Given the description of an element on the screen output the (x, y) to click on. 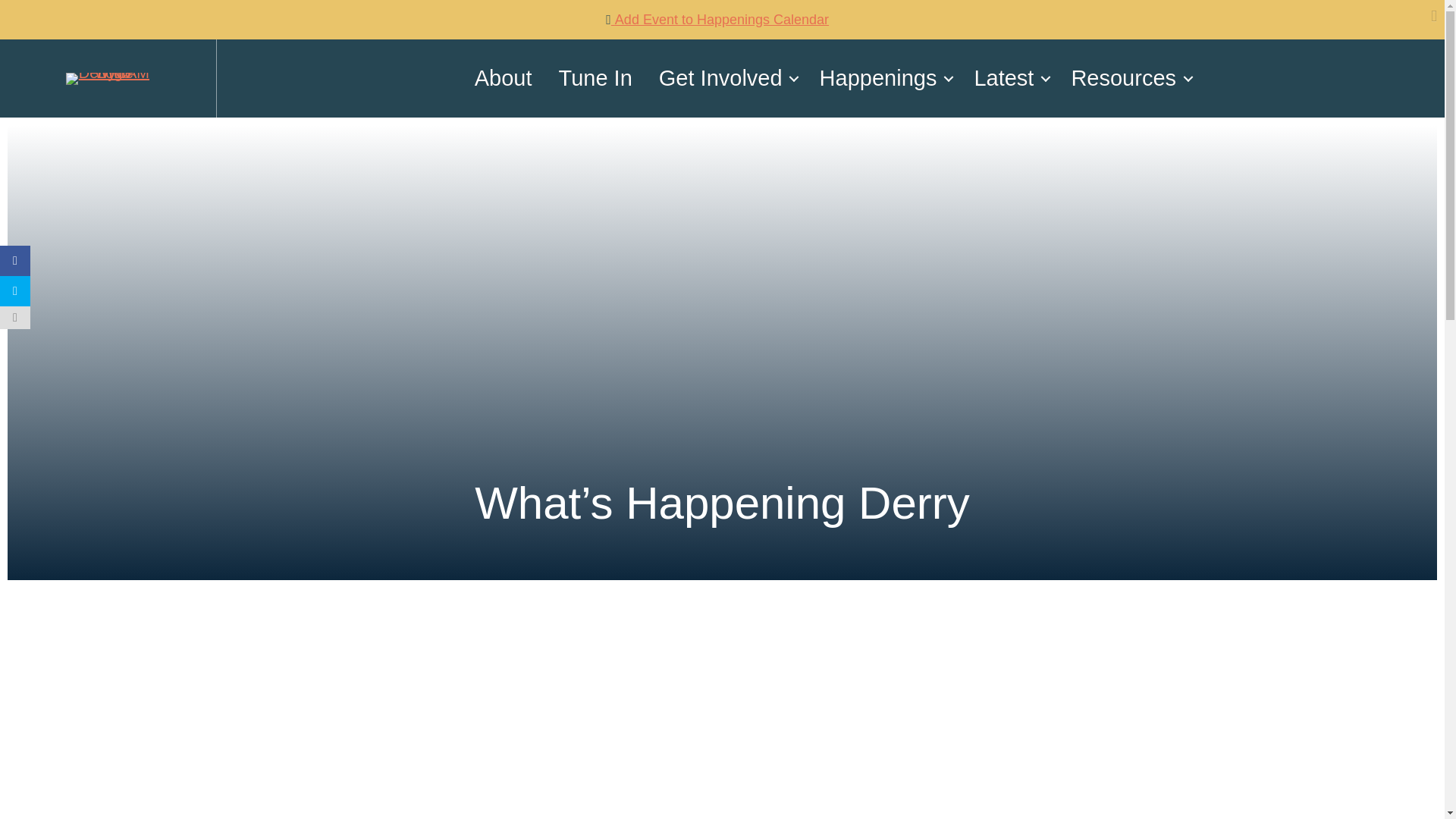
Add Event to Happenings Calendar (721, 19)
About (502, 78)
Resources (1128, 78)
Happenings (883, 78)
Latest (1008, 78)
Tune In (595, 78)
DCAM-Solid-White (107, 78)
Get Involved (726, 78)
